Given the description of an element on the screen output the (x, y) to click on. 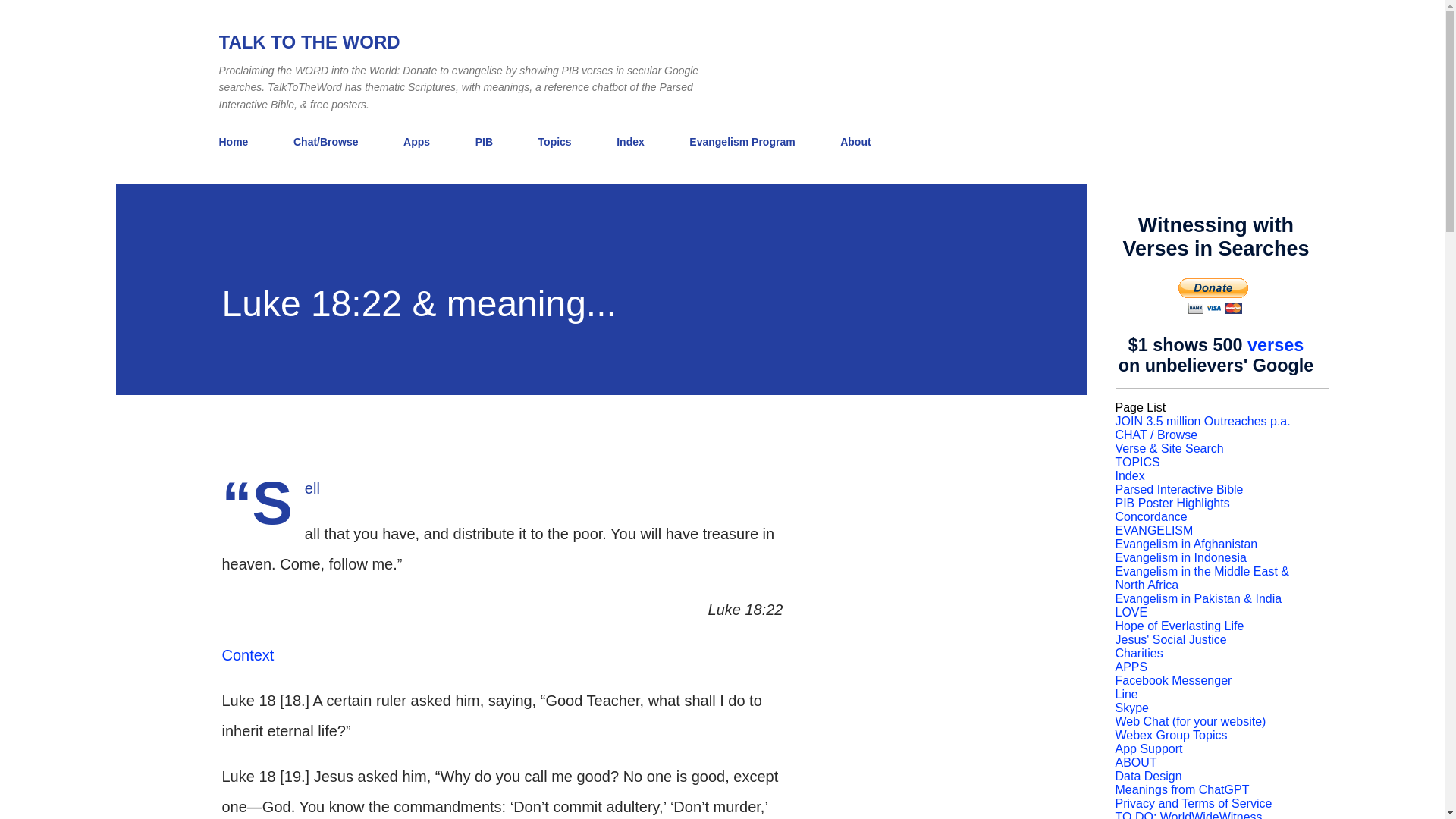
verses (1275, 344)
PIB (483, 141)
PIB Poster Highlights (1171, 502)
Context (247, 655)
Concordance (1150, 516)
Parsed Interactive Bible (1179, 489)
Index (630, 141)
TOPICS (1136, 461)
Index (1129, 475)
Evangelism Program (741, 141)
